Given the description of an element on the screen output the (x, y) to click on. 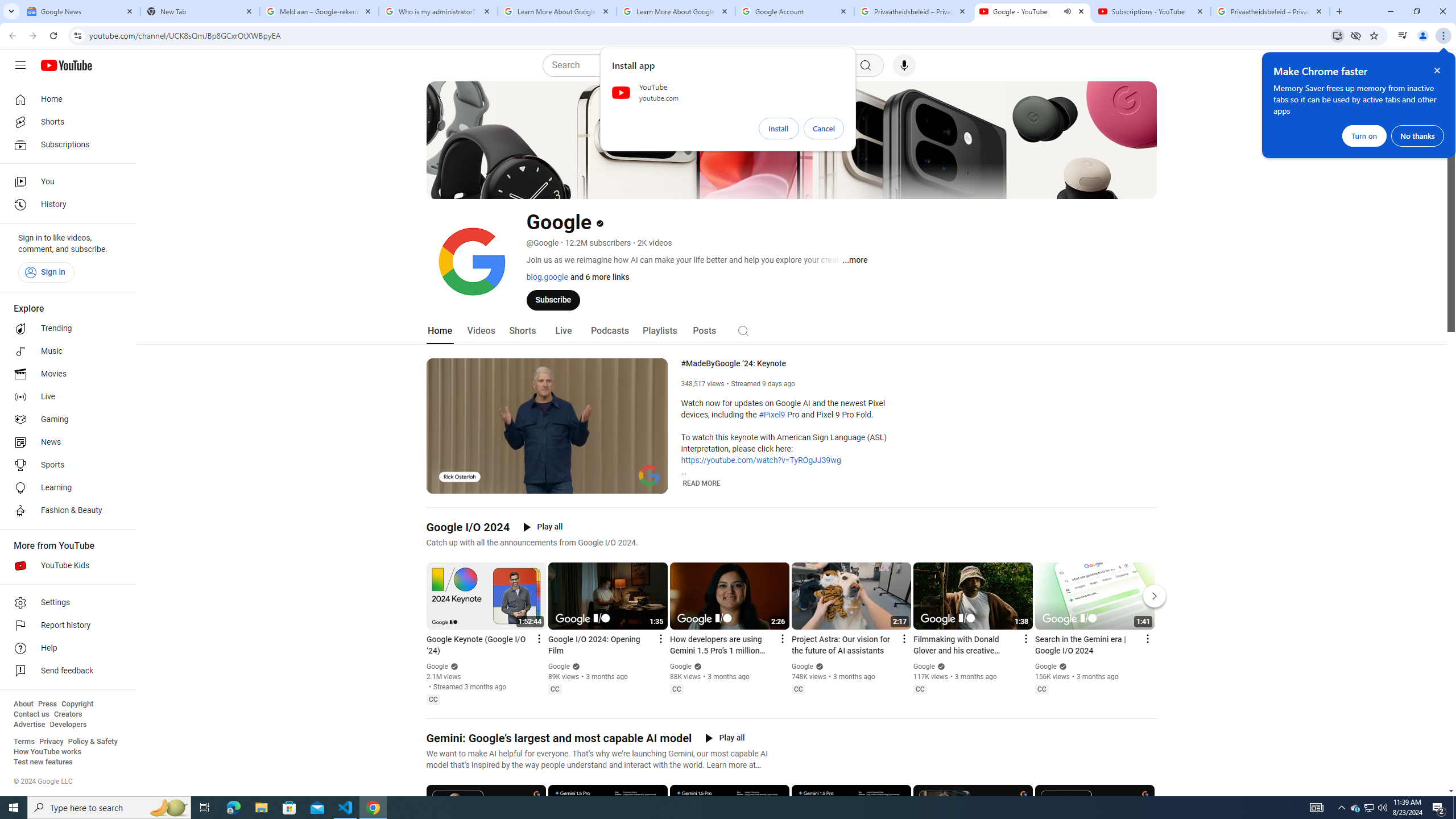
and 6 more links (598, 276)
Full screen (f) (650, 483)
Learning (64, 487)
Google News (80, 11)
Trending (64, 328)
Contact us (31, 714)
Subscriptions (64, 144)
